Given the description of an element on the screen output the (x, y) to click on. 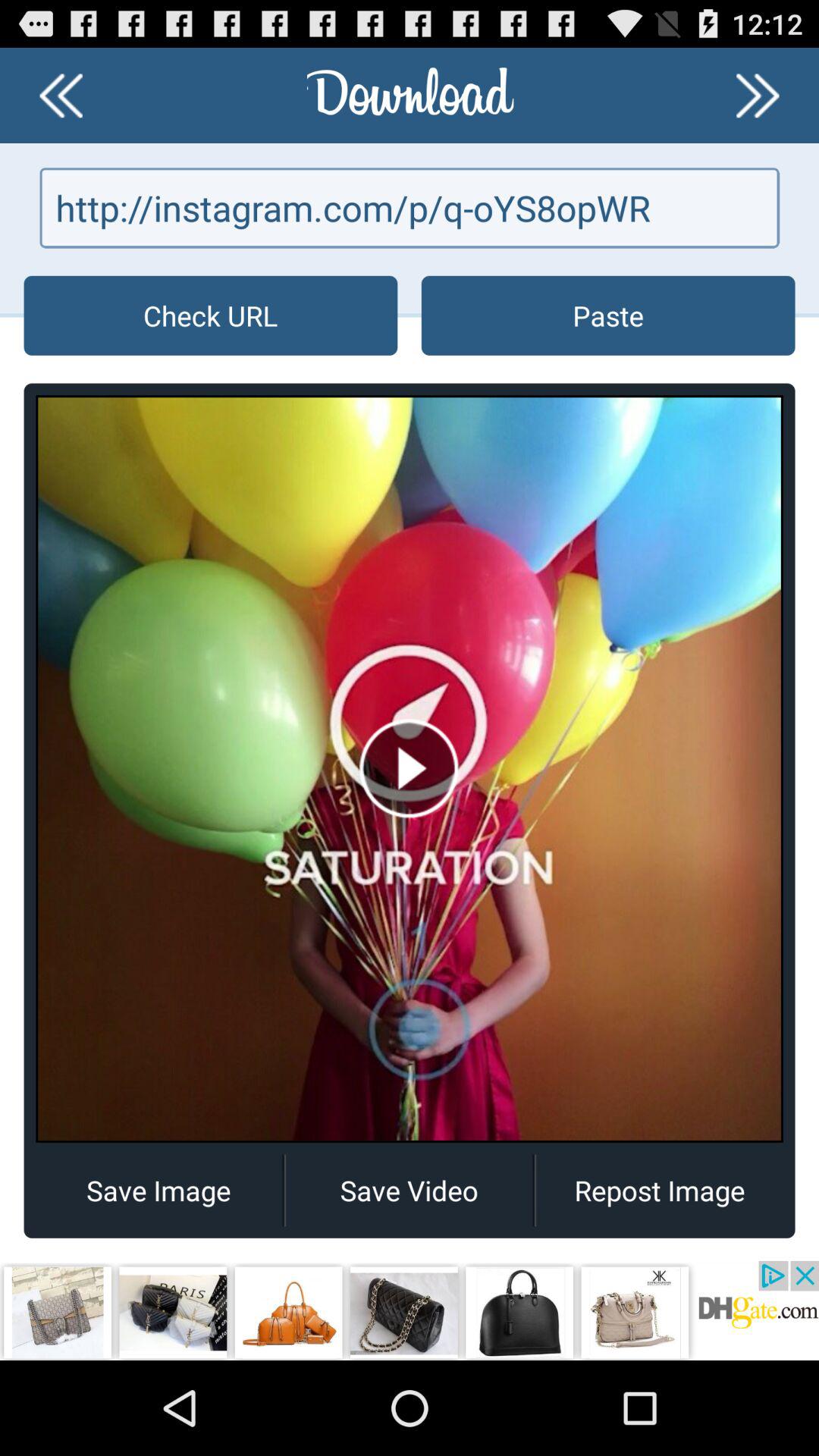
go forward (757, 95)
